Given the description of an element on the screen output the (x, y) to click on. 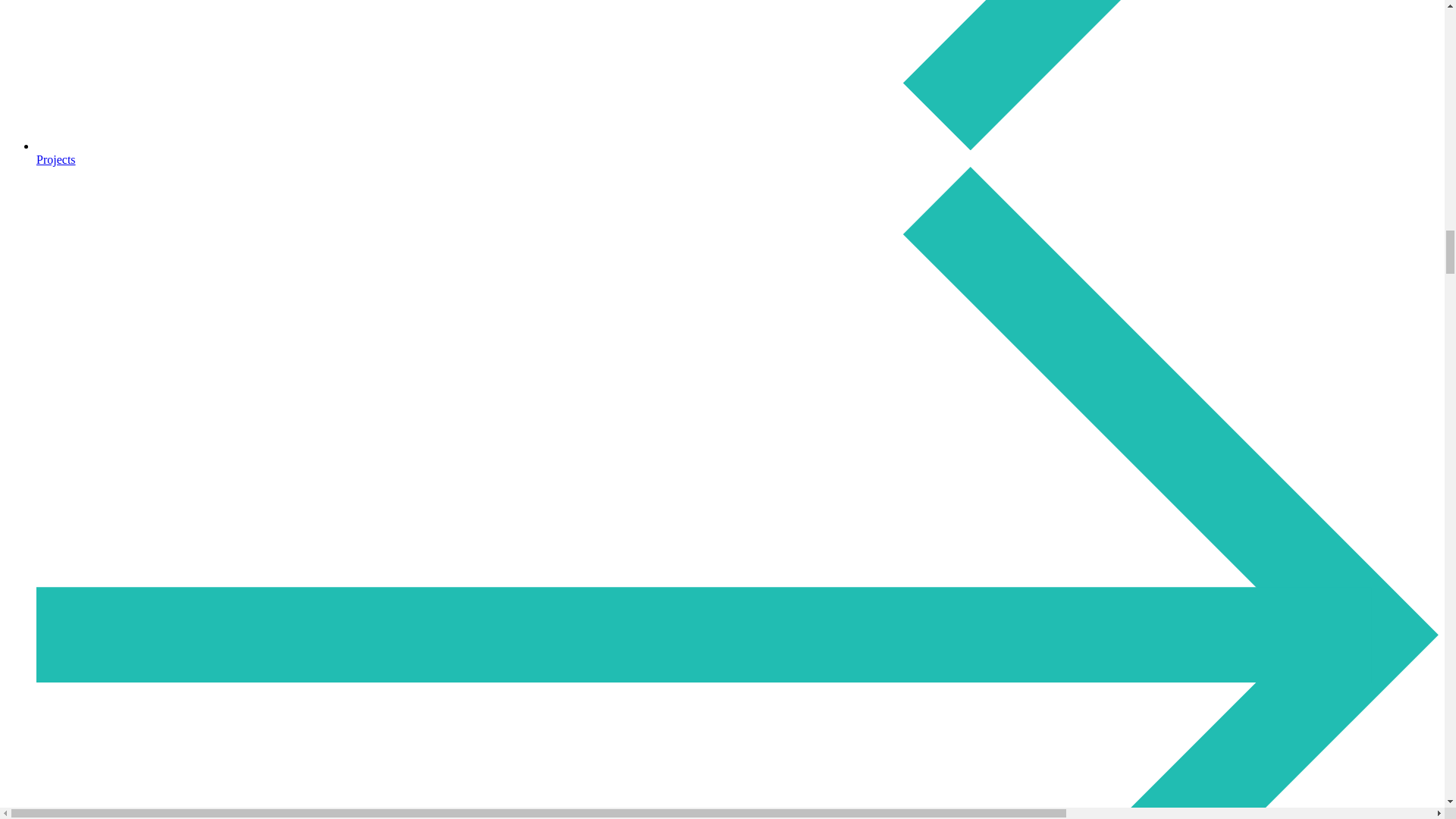
Projects (737, 152)
